Given the description of an element on the screen output the (x, y) to click on. 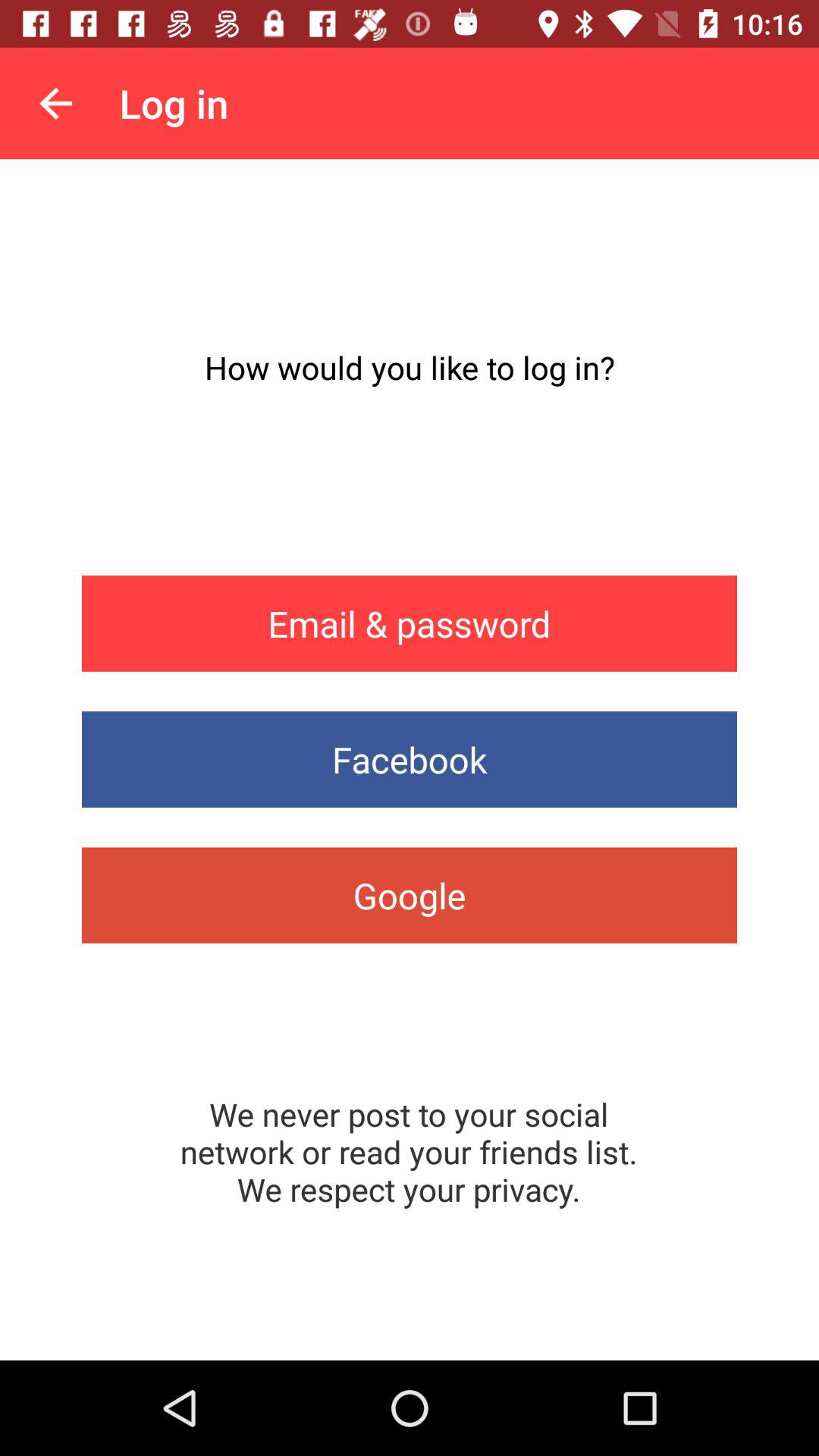
select email & password item (409, 623)
